Given the description of an element on the screen output the (x, y) to click on. 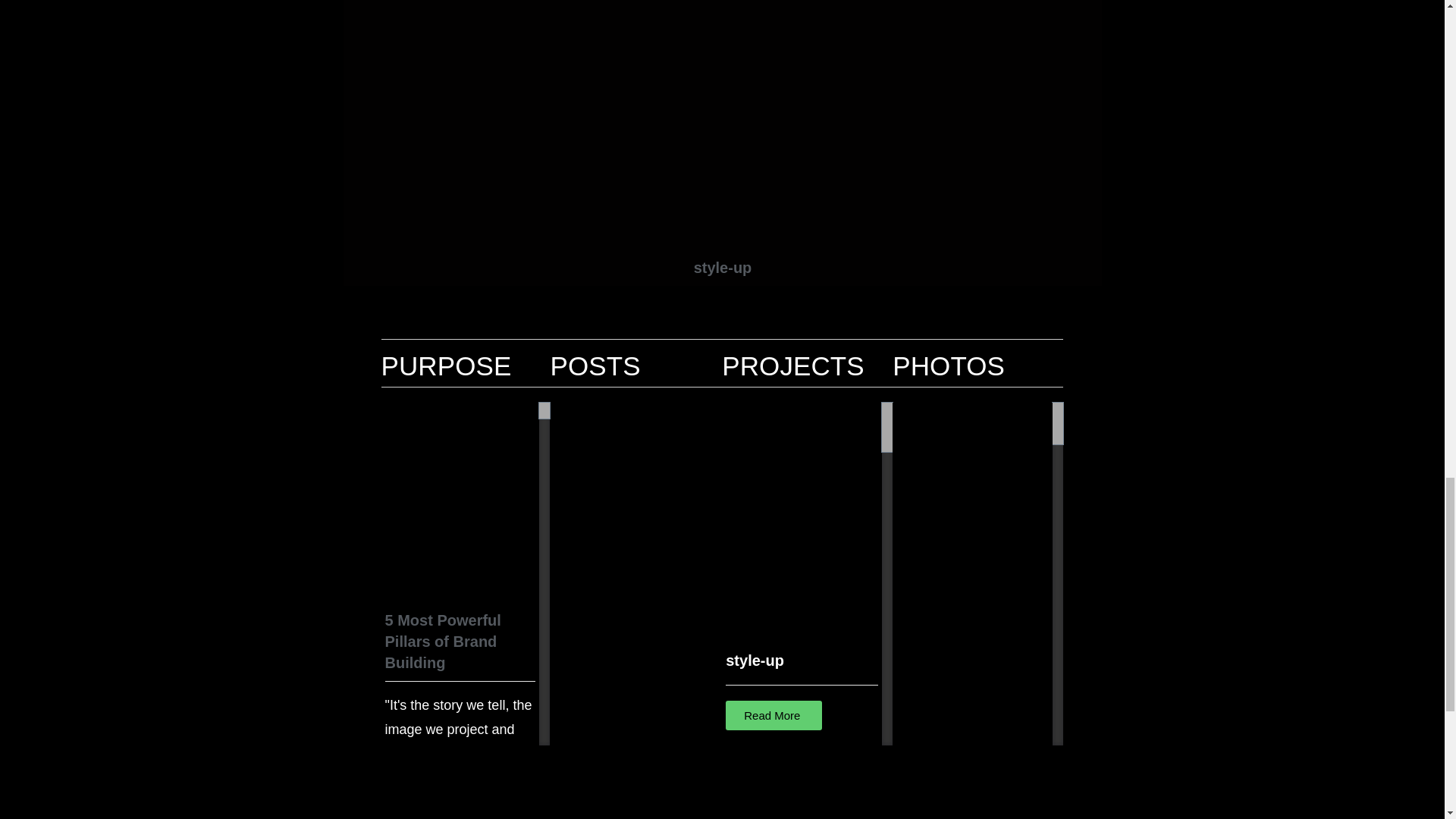
5 Most Powerful Pillars of Brand Building (442, 640)
style-up (722, 267)
style-up (773, 715)
